Given the description of an element on the screen output the (x, y) to click on. 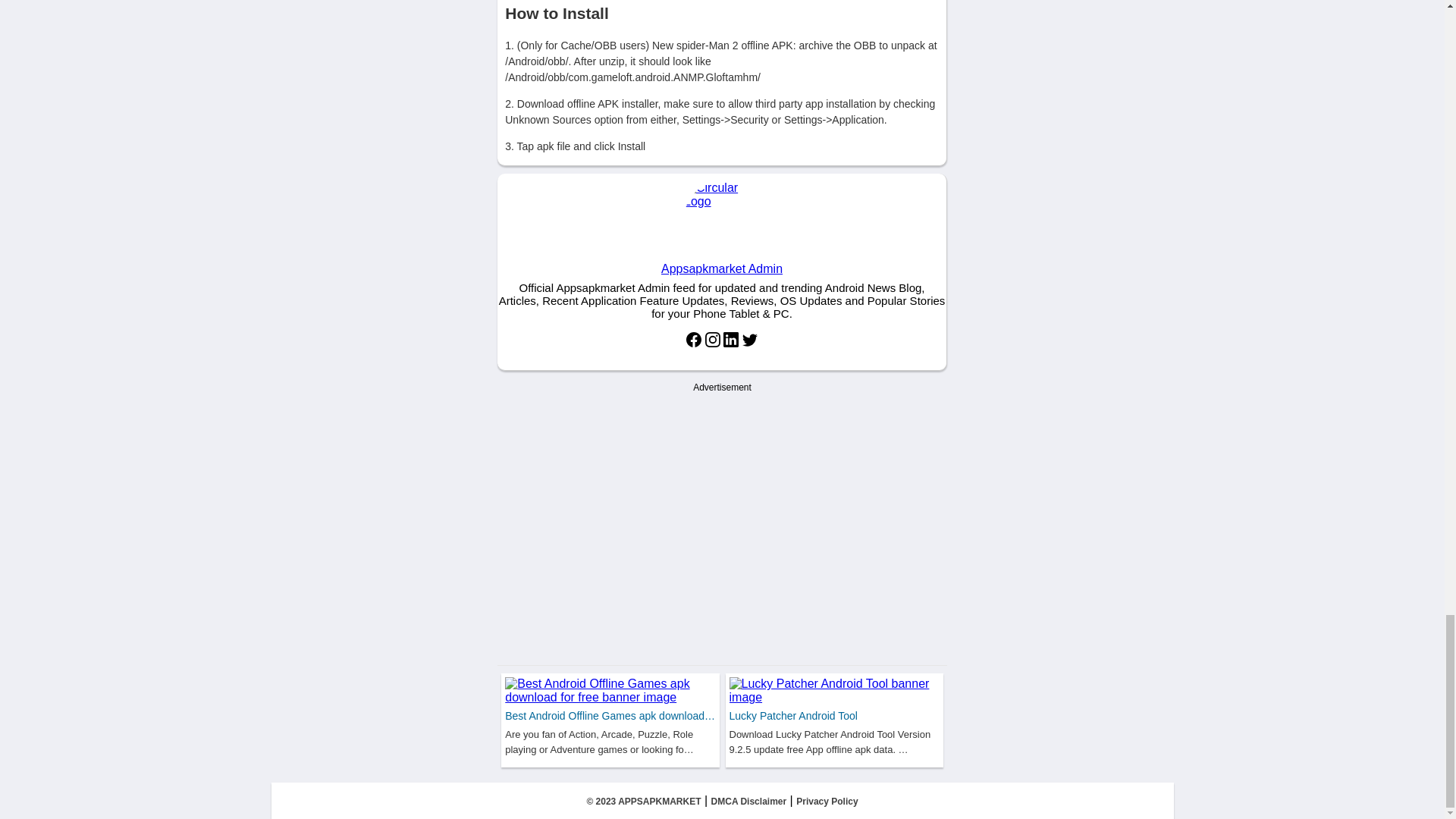
Lucky Patcher Android Tool (793, 715)
Appsapkmarket Admin (721, 230)
